Given the description of an element on the screen output the (x, y) to click on. 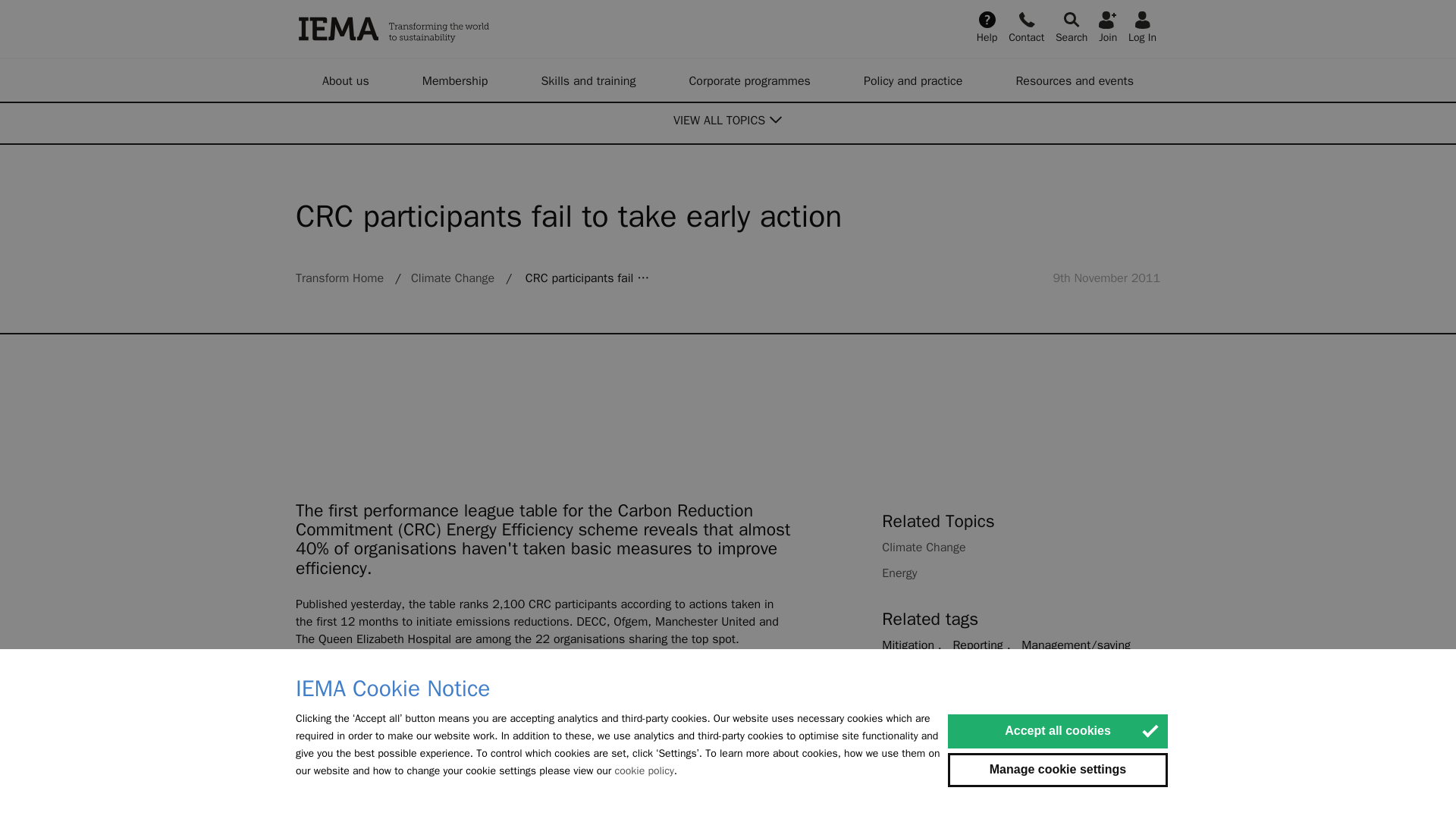
About us (345, 79)
Contact (1026, 26)
Membership (455, 79)
IEMA (470, 28)
